Given the description of an element on the screen output the (x, y) to click on. 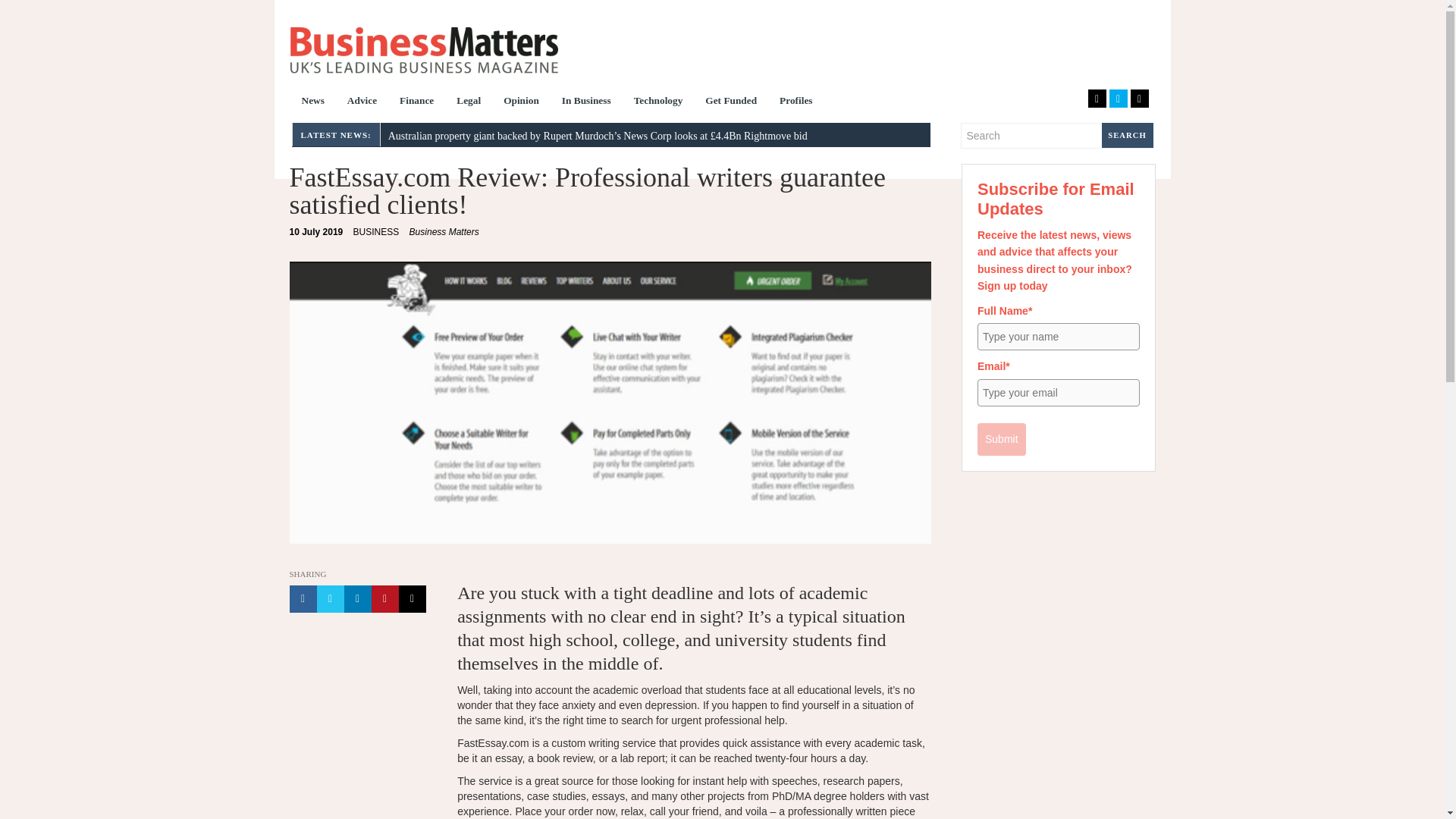
Business Matters (423, 50)
News (311, 101)
Business Matters (444, 231)
Legal (468, 101)
In Business (586, 101)
Advice (362, 101)
Technology (658, 101)
BUSINESS (375, 231)
Finance (416, 101)
